Given the description of an element on the screen output the (x, y) to click on. 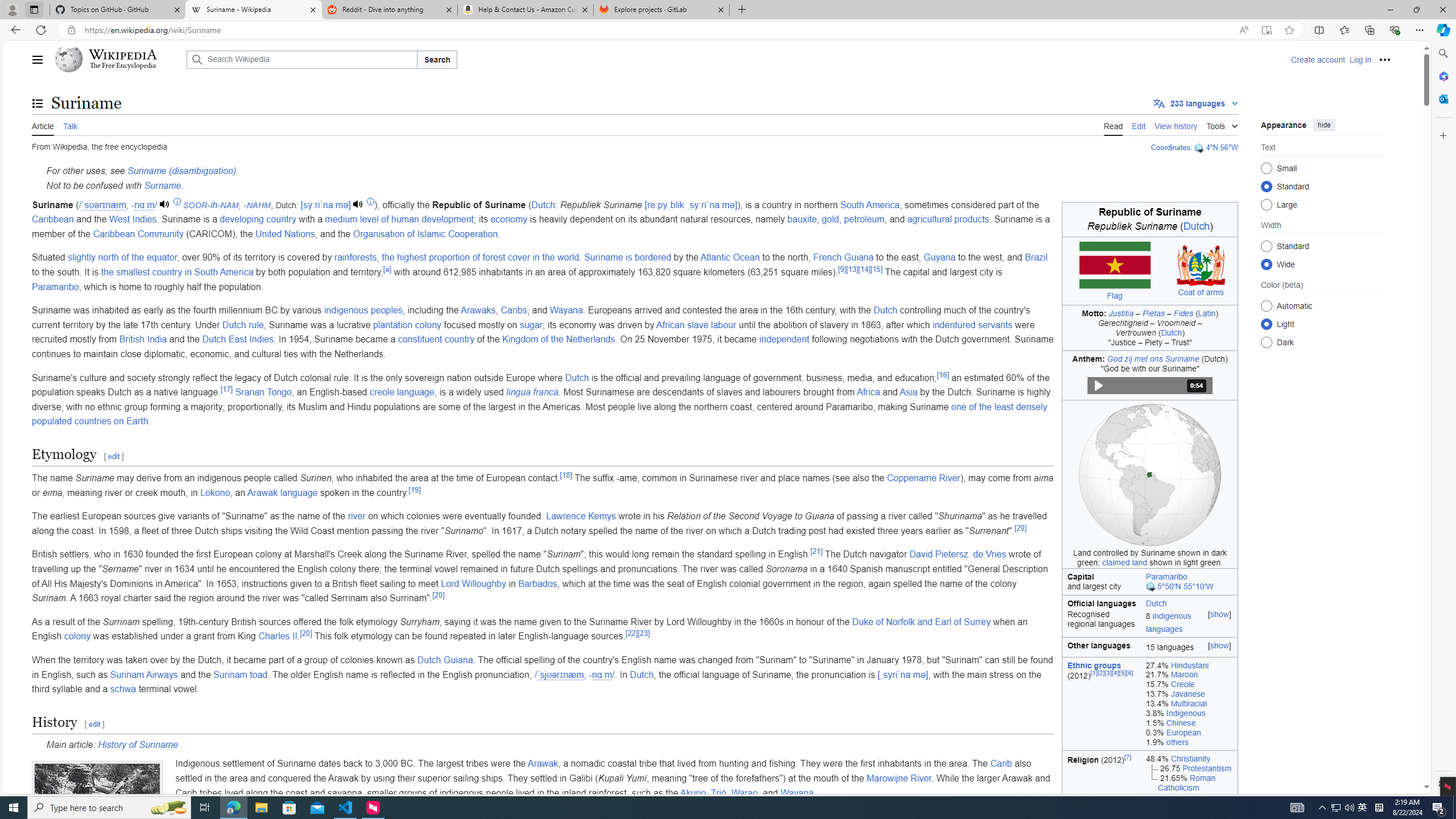
Brazil (1036, 257)
Creole (1182, 684)
Multiracial (1188, 703)
